Given the description of an element on the screen output the (x, y) to click on. 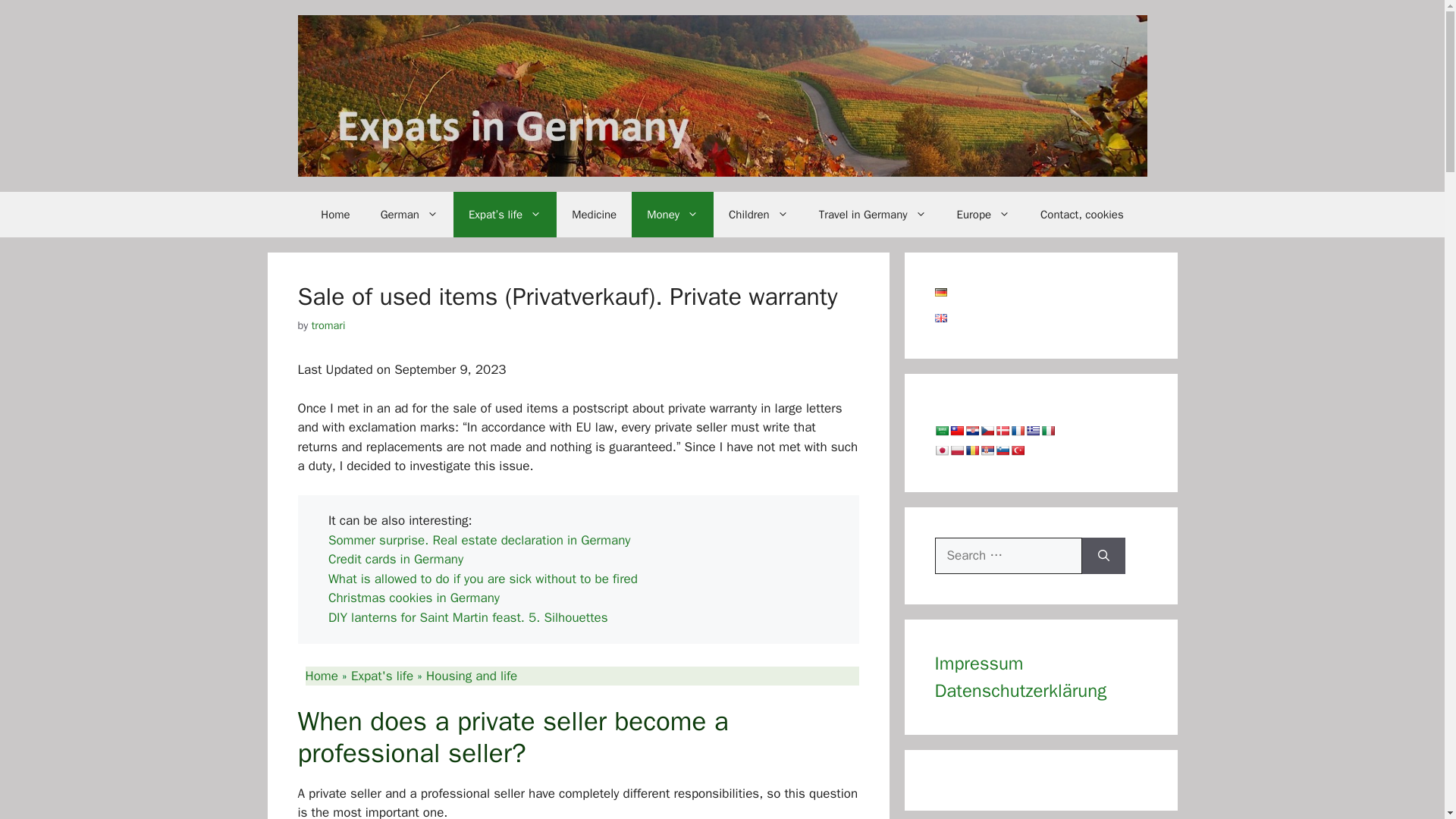
Money (672, 214)
Croatian (970, 430)
Travel in Germany (872, 214)
German (408, 214)
Slovenian (1001, 450)
Medicine (593, 214)
Danish (1001, 430)
Home (335, 214)
Serbian (985, 450)
Japanese (940, 450)
